Given the description of an element on the screen output the (x, y) to click on. 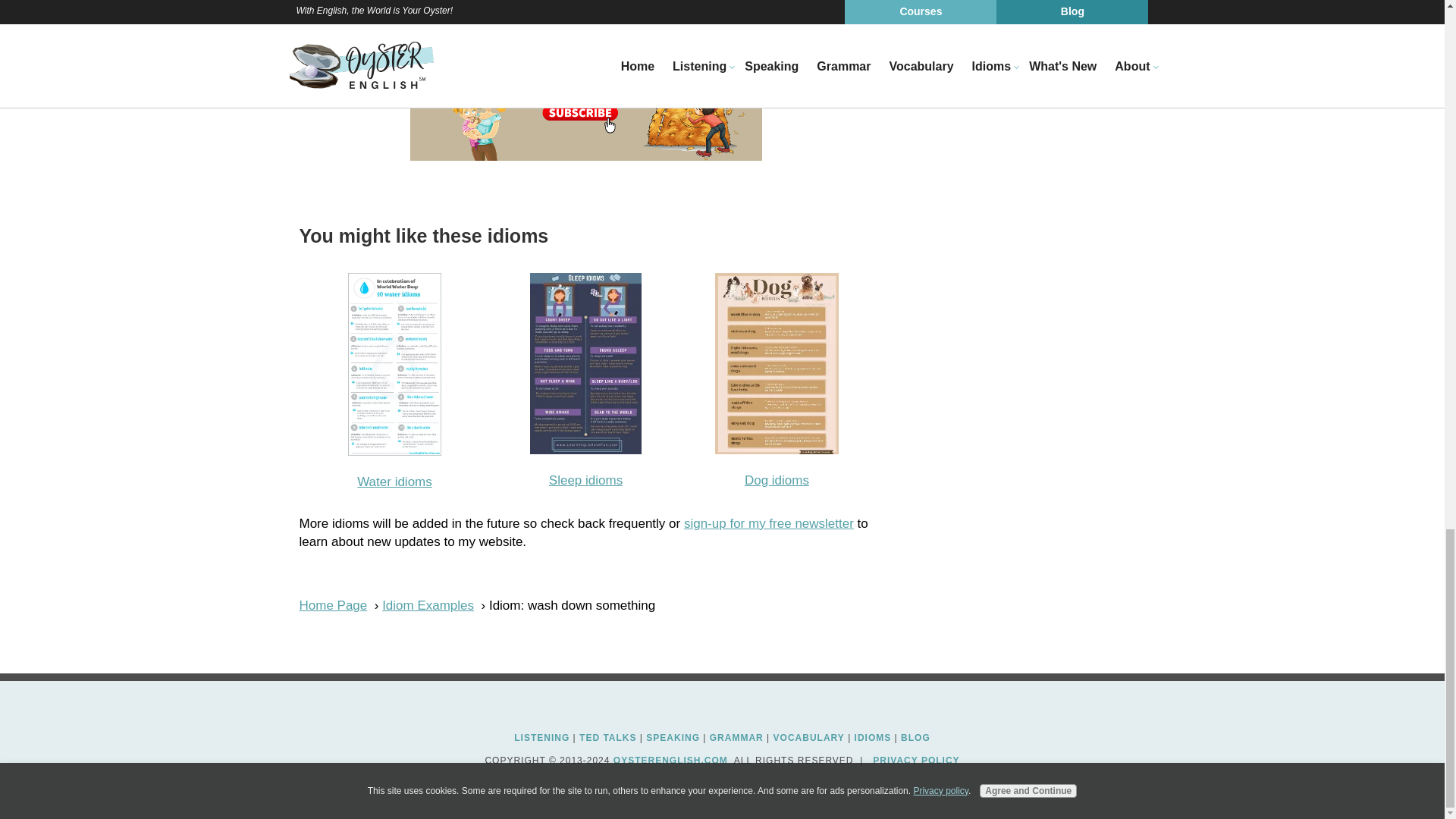
Go to Learn sleep idioms : Infographic (585, 450)
PRIVACY POLICY (915, 760)
Water idioms (394, 481)
IDIOMS (872, 737)
Idiom Examples (427, 605)
Go to 10 Important Water Idioms (394, 451)
LISTENING (541, 737)
Home Page (332, 605)
GRAMMAR (736, 737)
TED TALKS (607, 737)
VOCABULARY (808, 737)
SPEAKING (673, 737)
Go to Signup and receive a free idioms ebook (585, 156)
BLOG (915, 737)
OYSTERENGLISH.COM (670, 760)
